Given the description of an element on the screen output the (x, y) to click on. 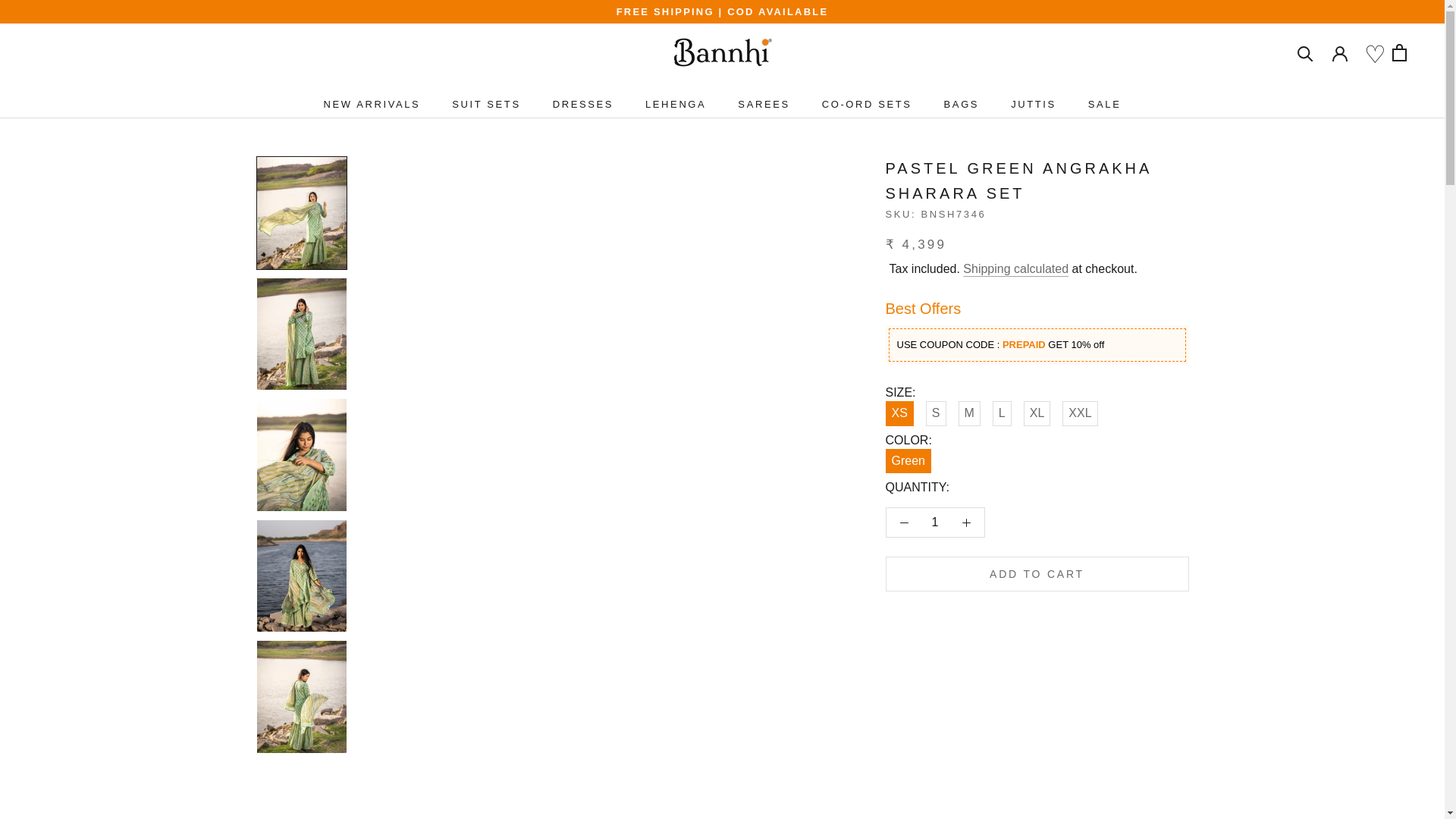
1 (371, 103)
SUIT SETS (961, 103)
